Given the description of an element on the screen output the (x, y) to click on. 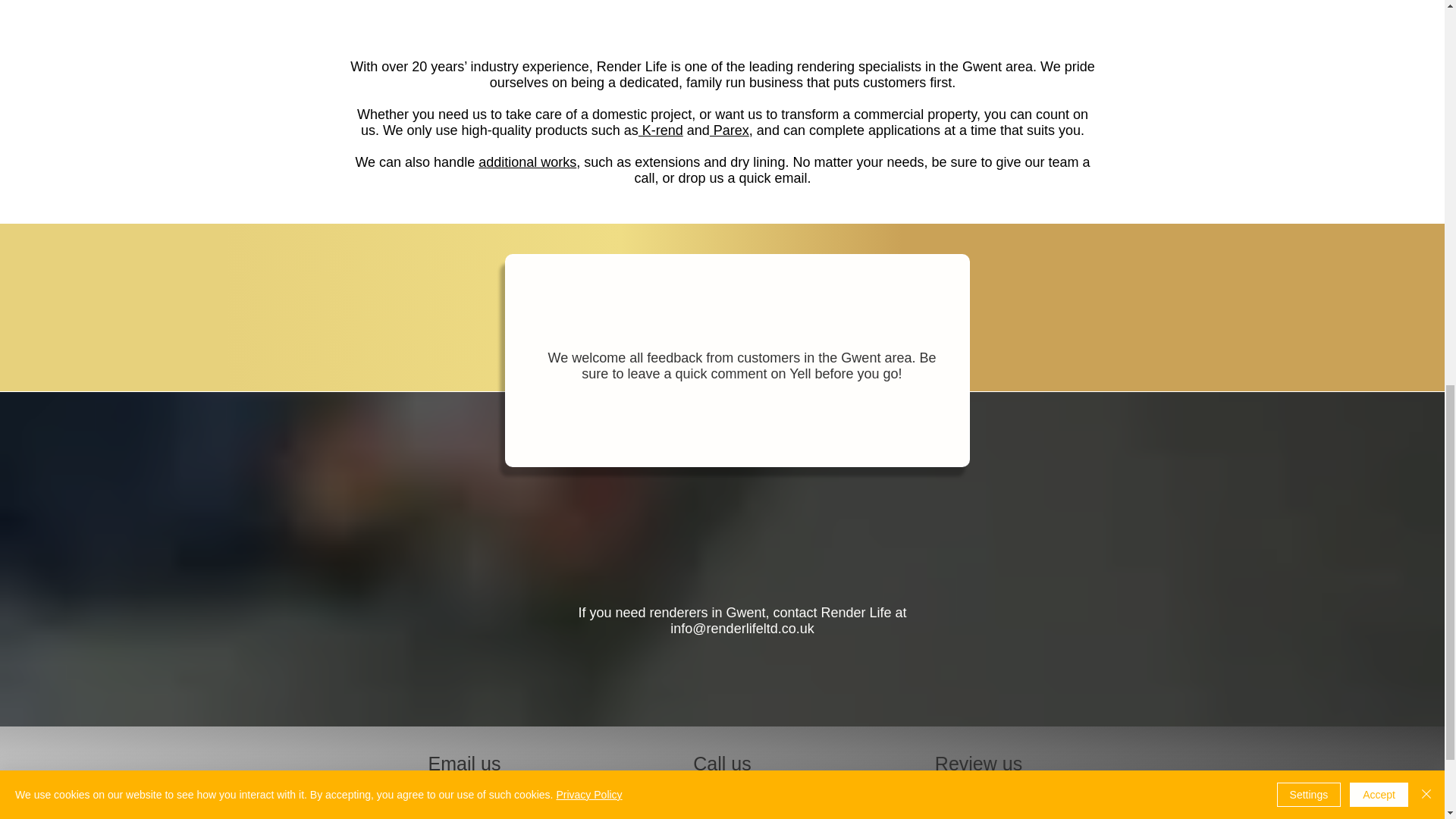
Parex (729, 130)
additional works (527, 161)
K-rend (660, 130)
